Given the description of an element on the screen output the (x, y) to click on. 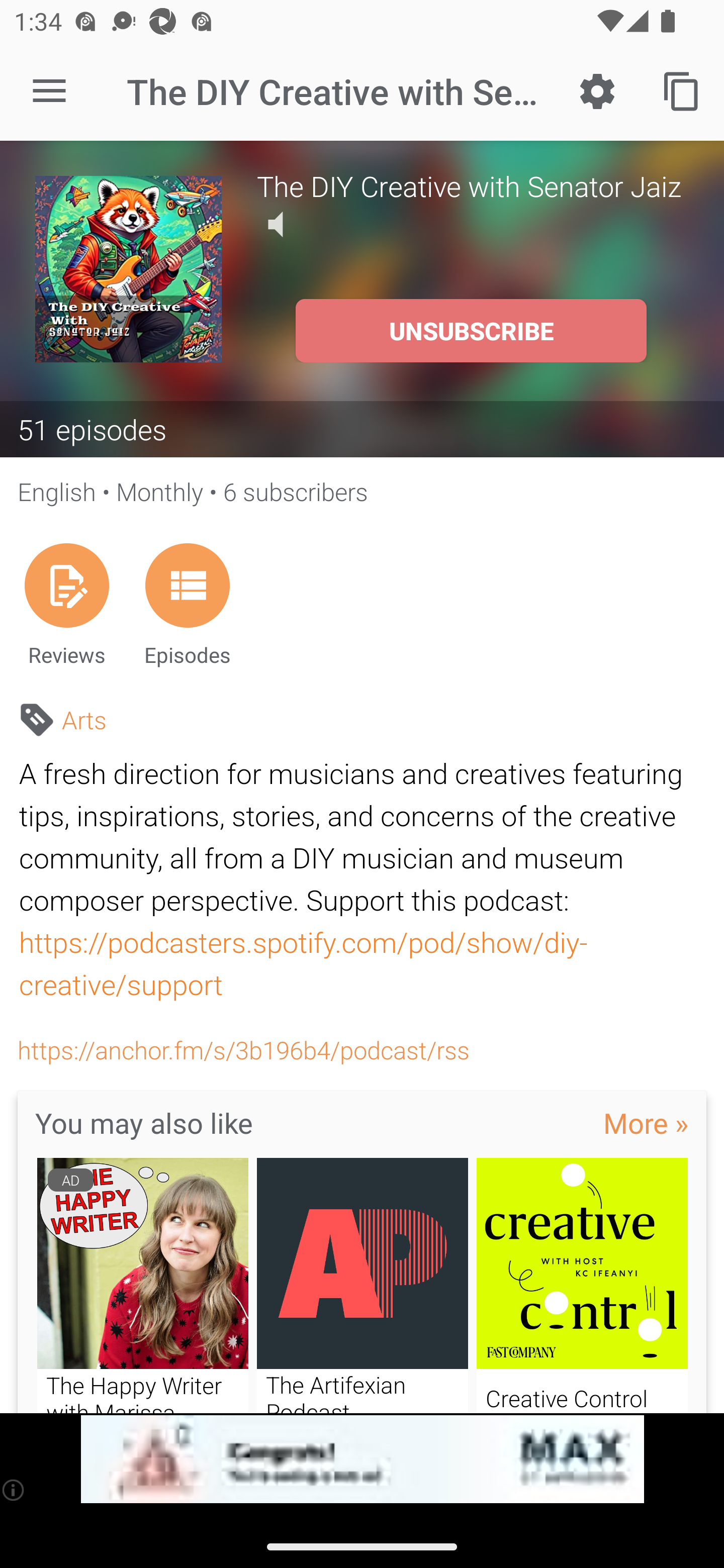
Open navigation sidebar (49, 91)
Settings (597, 90)
Copy feed url to clipboard (681, 90)
The DIY Creative with Senator Jaiz (472, 185)
UNSUBSCRIBE (470, 330)
Reviews (66, 604)
Episodes (187, 604)
More » (645, 1122)
AD The Happy Writer with Marissa Meyer (142, 1284)
The Artifexian Podcast (362, 1284)
Creative Control (581, 1284)
app-monetization (362, 1459)
(i) (14, 1489)
